Given the description of an element on the screen output the (x, y) to click on. 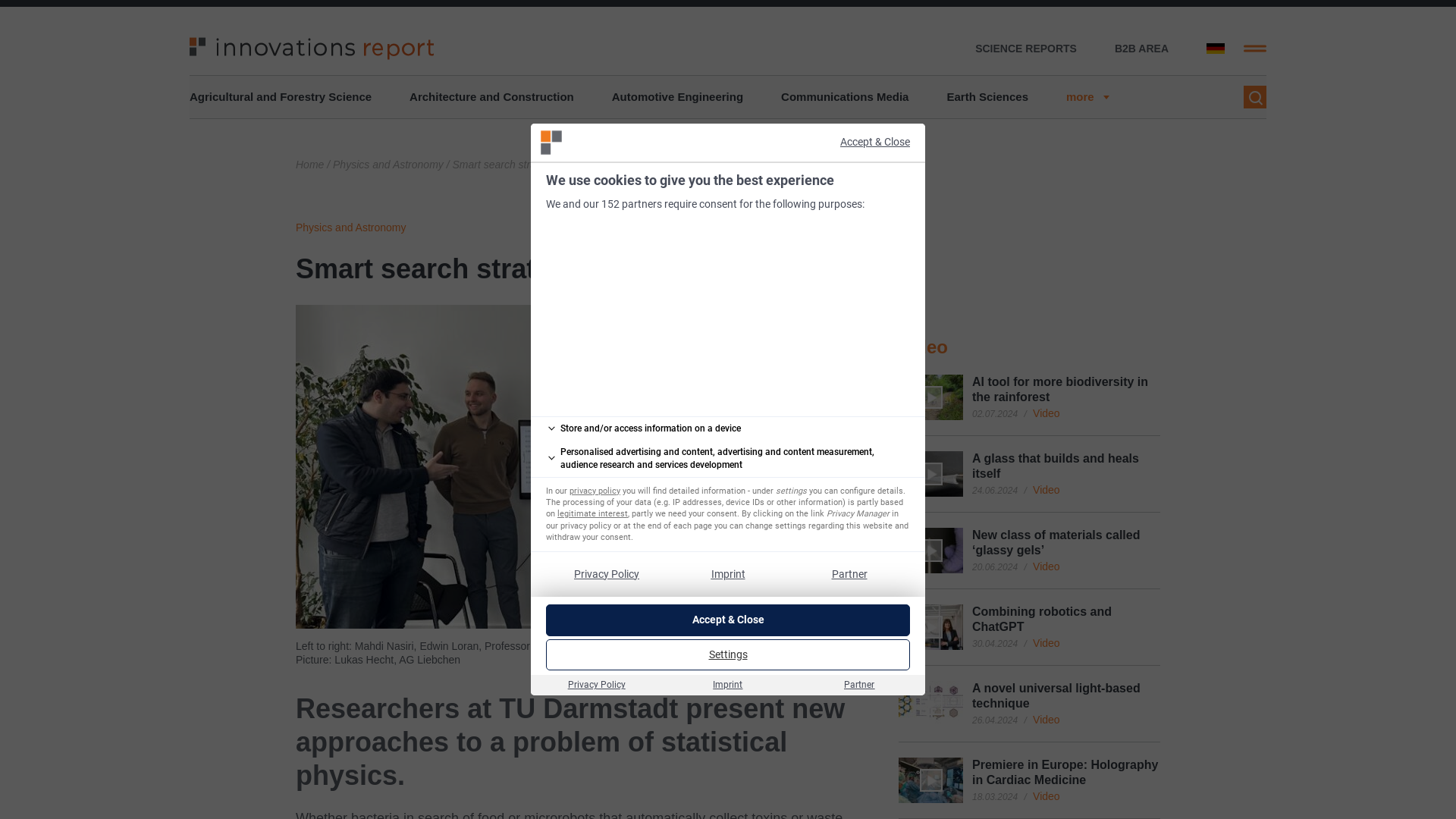
SCIENCE REPORTS (1026, 48)
Communications Media (844, 96)
Agricultural and Forestry Science (280, 96)
Automotive Engineering (676, 96)
Earth Sciences (986, 96)
Architecture and Construction (491, 96)
B2B AREA (1142, 48)
